Given the description of an element on the screen output the (x, y) to click on. 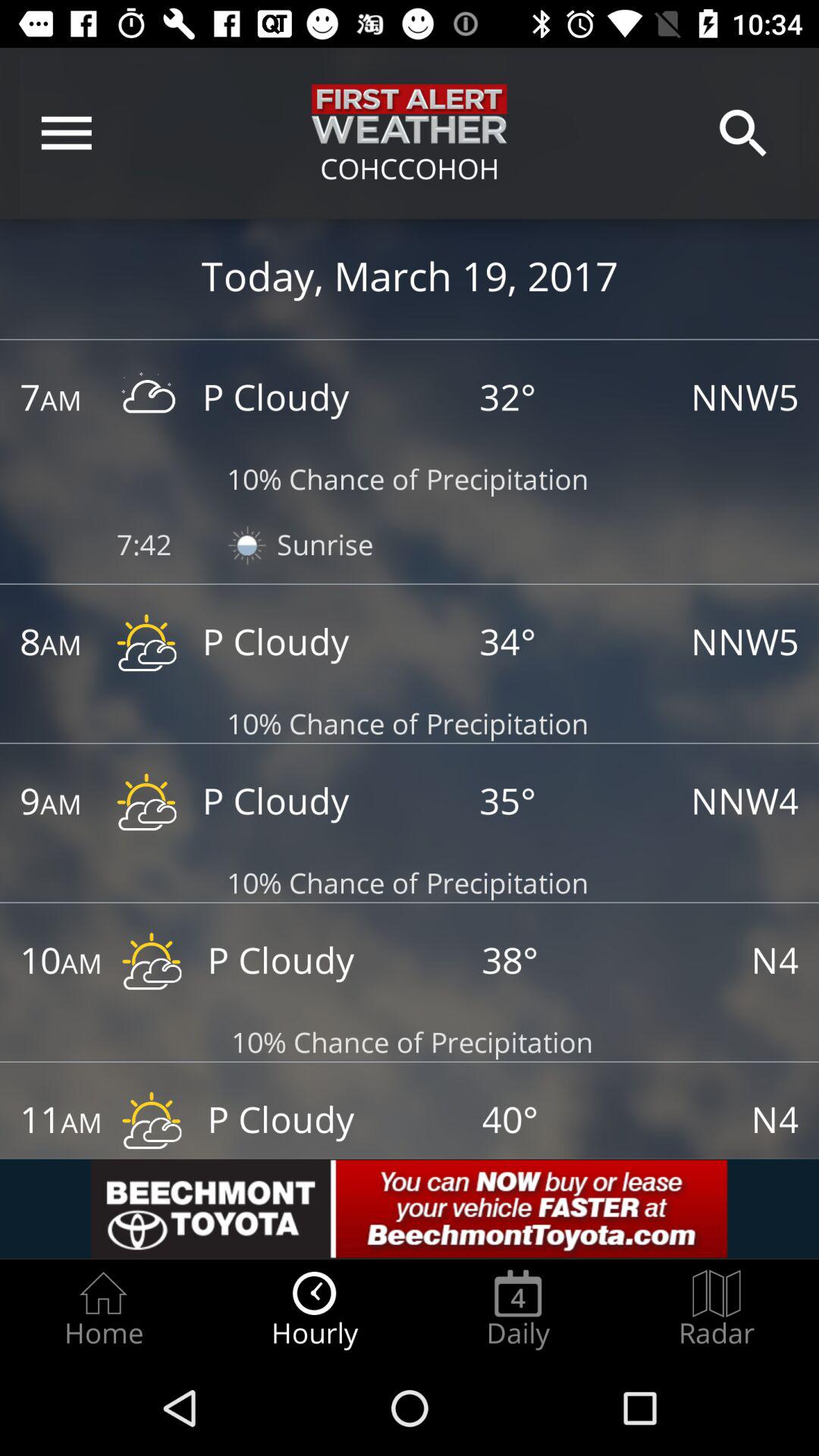
go to advertisement (409, 1208)
